Given the description of an element on the screen output the (x, y) to click on. 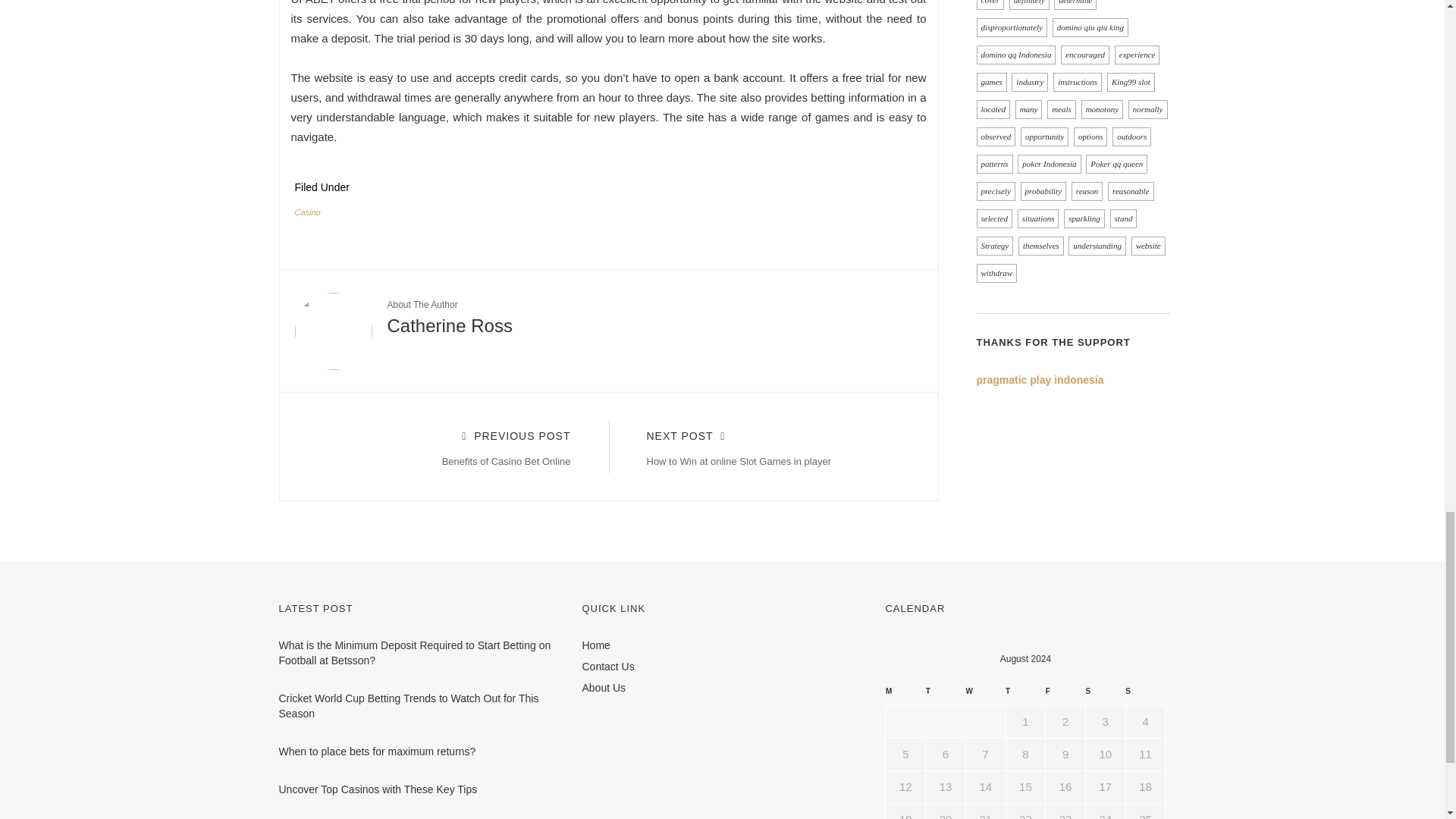
Monday (775, 446)
Sunday (905, 694)
Wednesday (1145, 694)
Friday (985, 694)
Saturday (1065, 694)
Tuesday (1104, 694)
Thursday (441, 446)
Casino (946, 694)
